Given the description of an element on the screen output the (x, y) to click on. 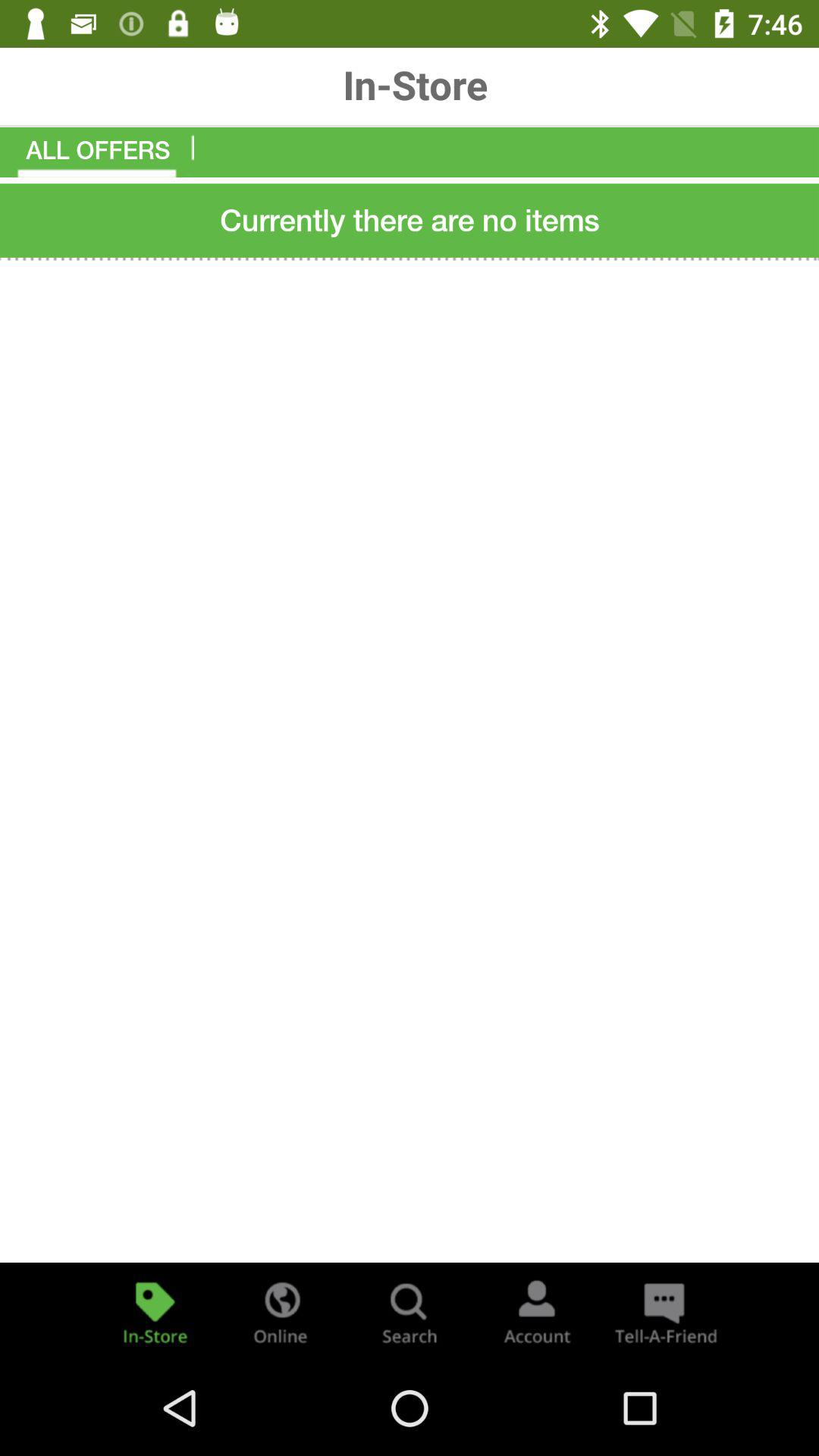
share (664, 1311)
